Given the description of an element on the screen output the (x, y) to click on. 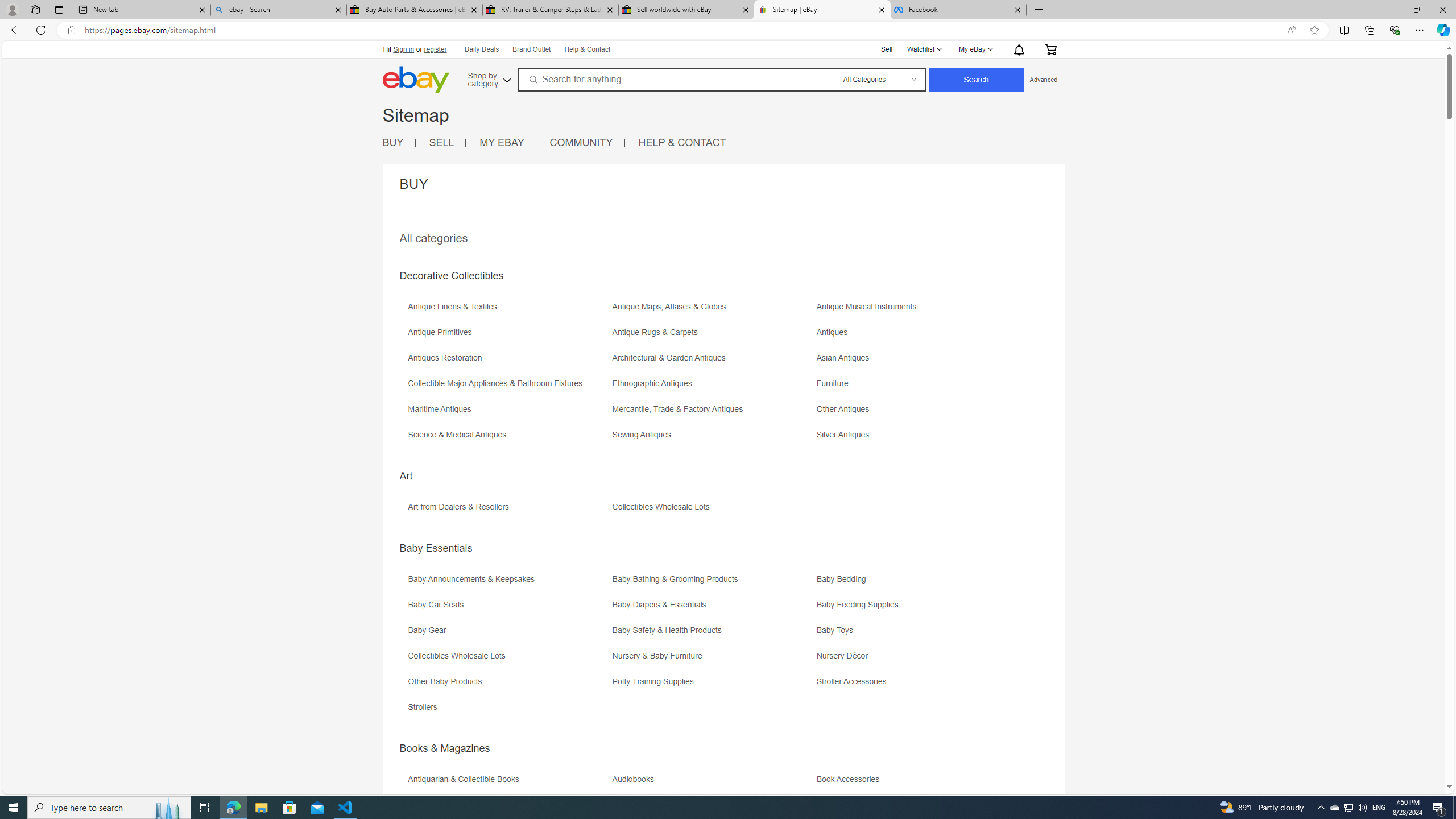
Baby Diapers & Essentials (712, 608)
Shop by category (488, 78)
Buy Auto Parts & Accessories | eBay (414, 9)
Daily Deals (481, 49)
Science & Medical Antiques (508, 438)
Mercantile, Trade & Factory Antiques (679, 408)
Split screen (1344, 29)
Tab actions menu (58, 9)
Antique Musical Instruments (917, 310)
Baby Toys (917, 634)
Science & Medical Antiques (459, 434)
Antiquarian & Collectible Books (508, 783)
Notification (1018, 49)
Address and search bar (680, 29)
Your shopping cart (1049, 49)
